Given the description of an element on the screen output the (x, y) to click on. 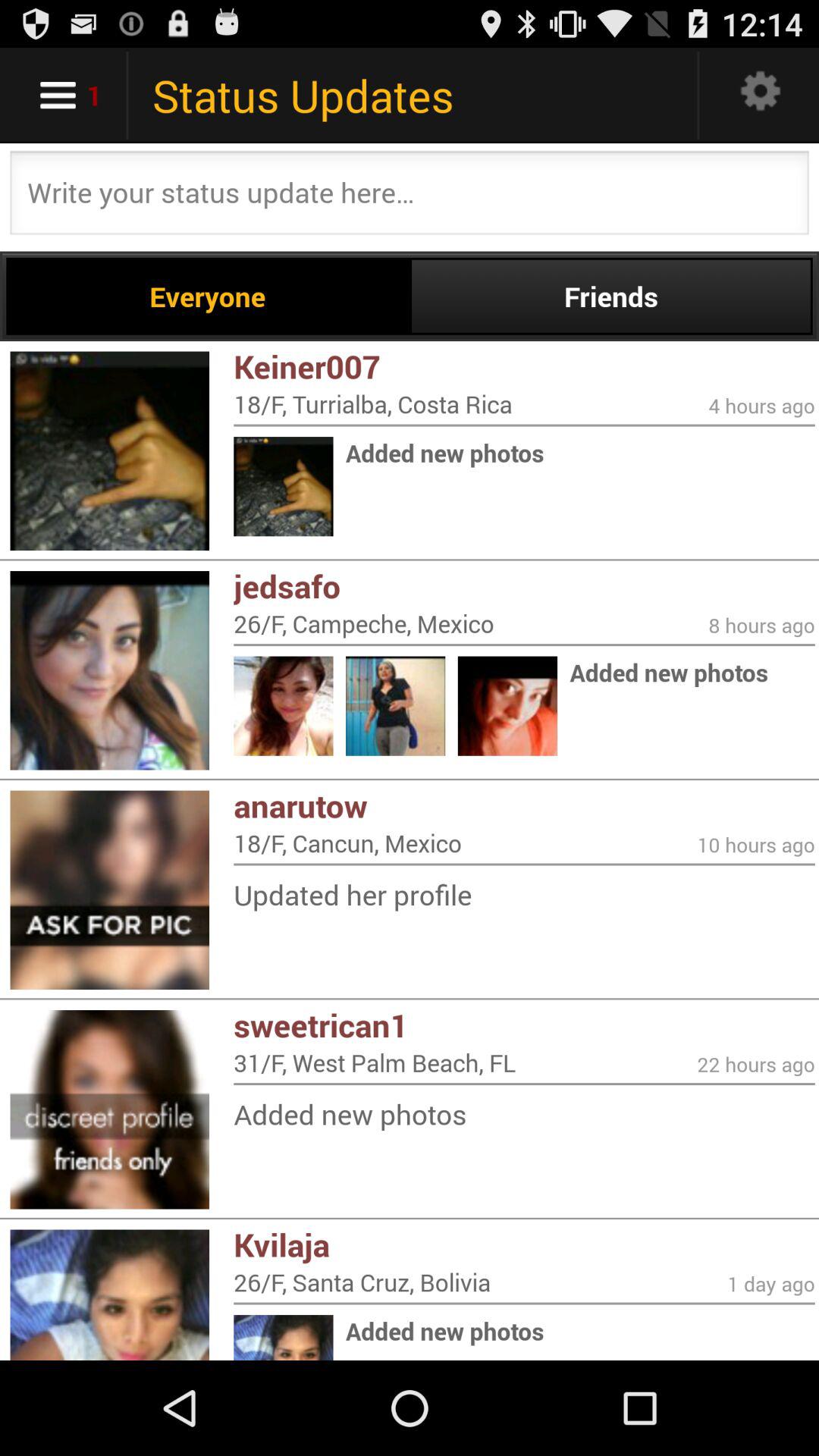
press the icon next to the friends (207, 295)
